Given the description of an element on the screen output the (x, y) to click on. 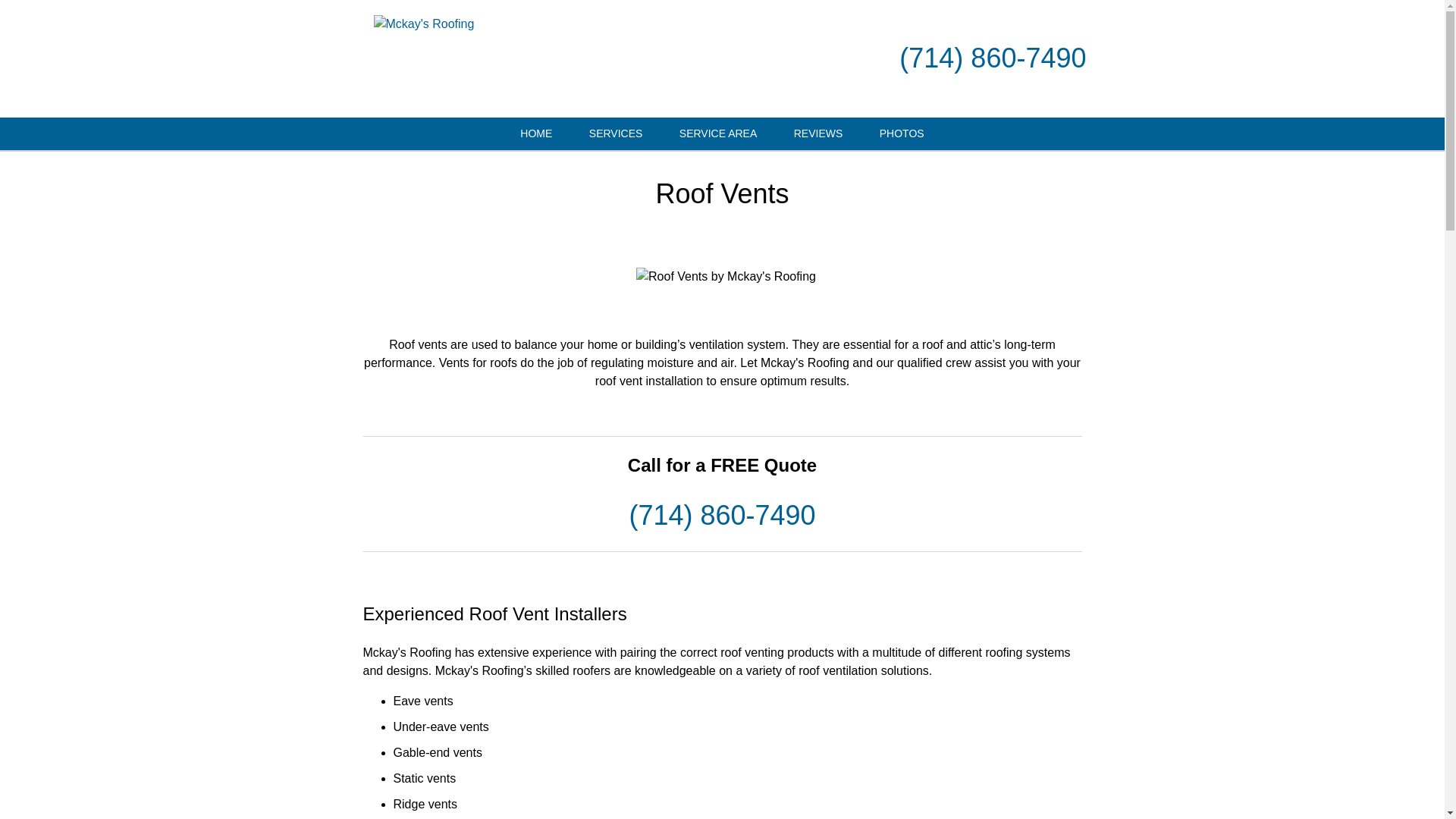
REVIEWS (818, 133)
PHOTOS (901, 133)
SERVICE AREA (717, 133)
SERVICES (615, 133)
HOME (536, 133)
